Given the description of an element on the screen output the (x, y) to click on. 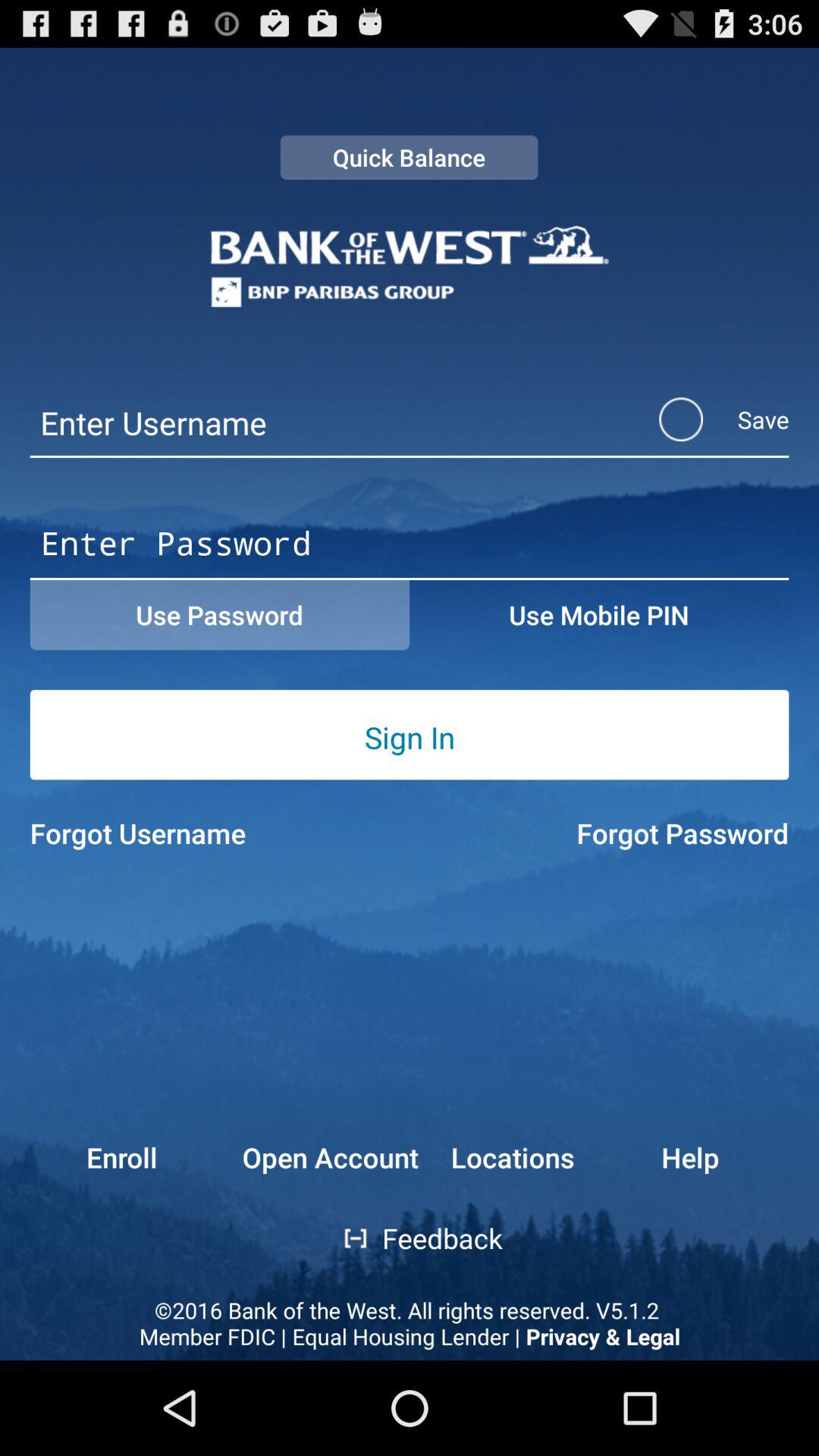
select the enroll item (93, 1157)
